Given the description of an element on the screen output the (x, y) to click on. 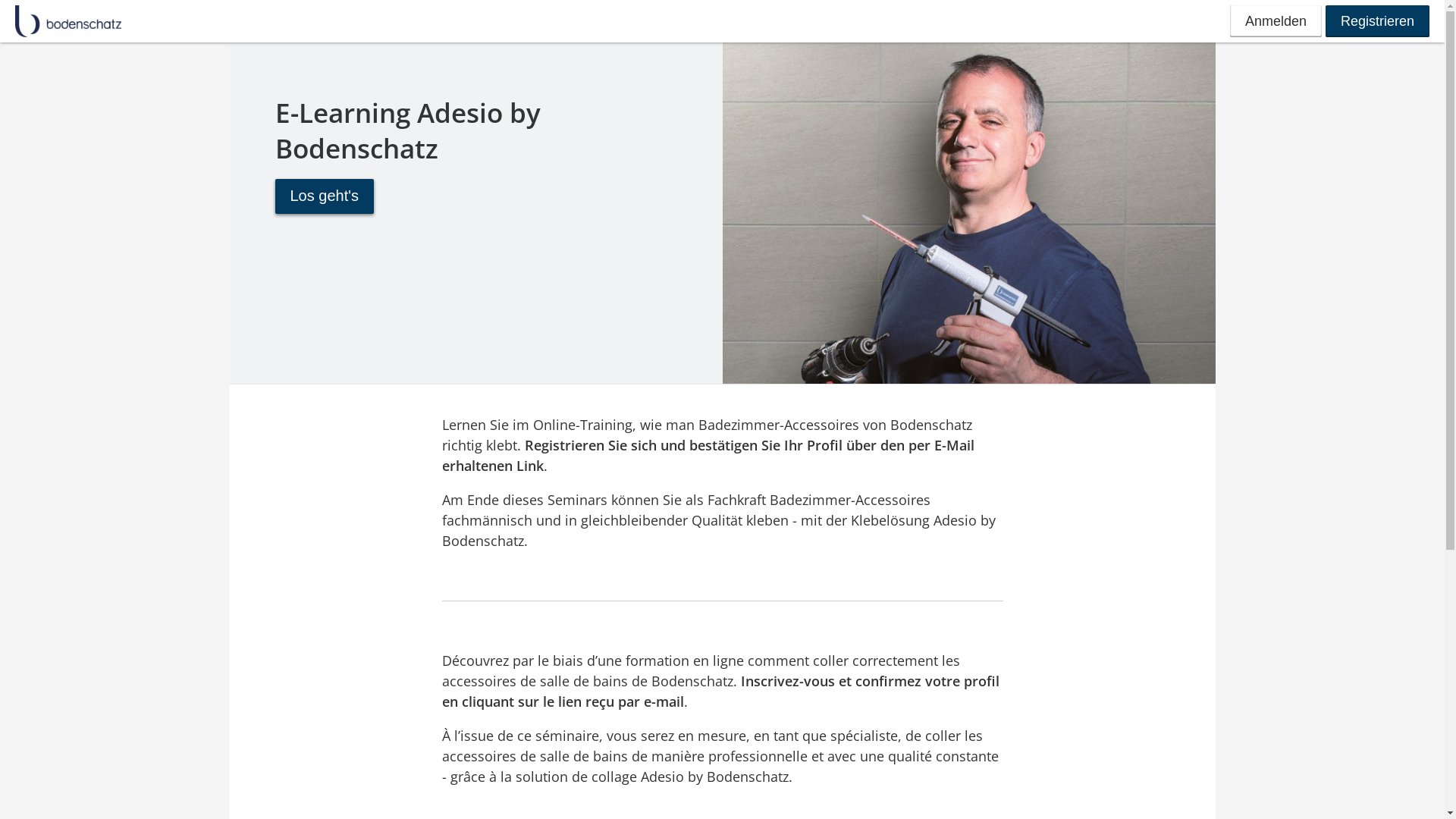
Anmelden Element type: text (1275, 21)
Los geht's Element type: text (323, 195)
Registrieren Element type: text (1377, 21)
